Given the description of an element on the screen output the (x, y) to click on. 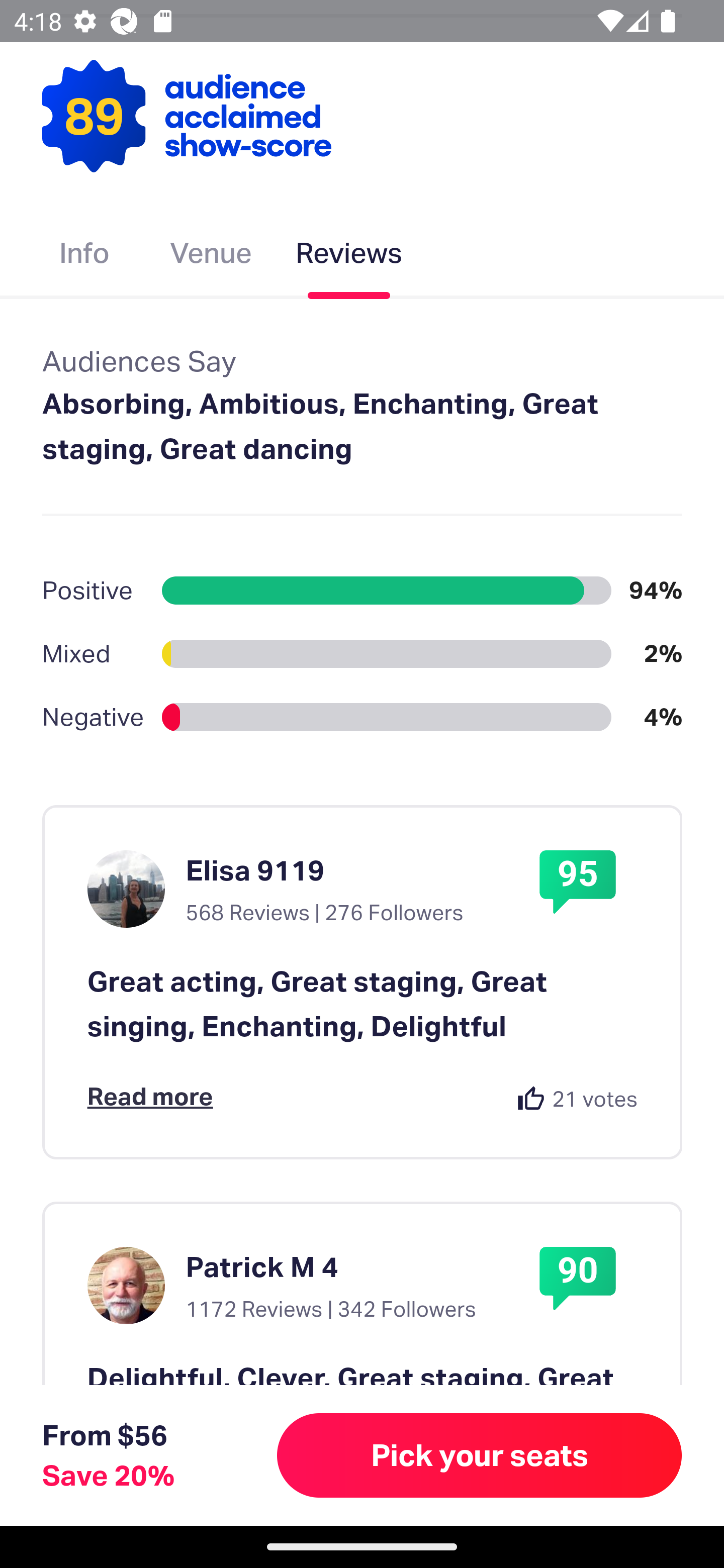
Info (83, 256)
Venue (210, 256)
Read more (150, 1096)
Pick your seats (479, 1454)
